Given the description of an element on the screen output the (x, y) to click on. 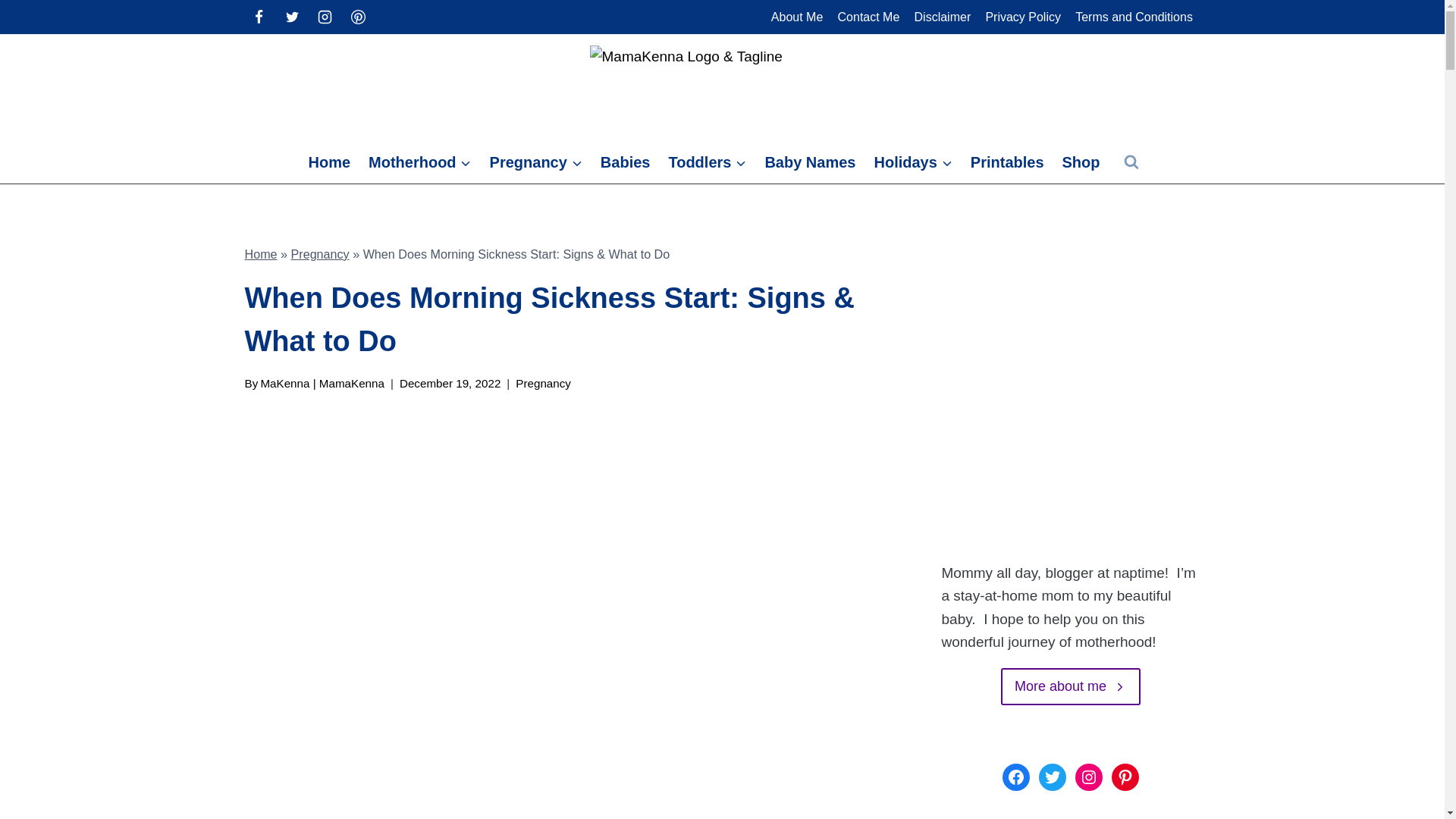
Baby Names (809, 161)
Holidays (912, 161)
Motherhood (419, 161)
Pregnancy (320, 254)
Pregnancy (535, 161)
Home (328, 161)
Privacy Policy (1023, 17)
Shop (1080, 161)
Toddlers (707, 161)
Contact Me (868, 17)
Home (260, 254)
Disclaimer (942, 17)
Printables (1006, 161)
Terms and Conditions (1133, 17)
About Me (795, 17)
